Given the description of an element on the screen output the (x, y) to click on. 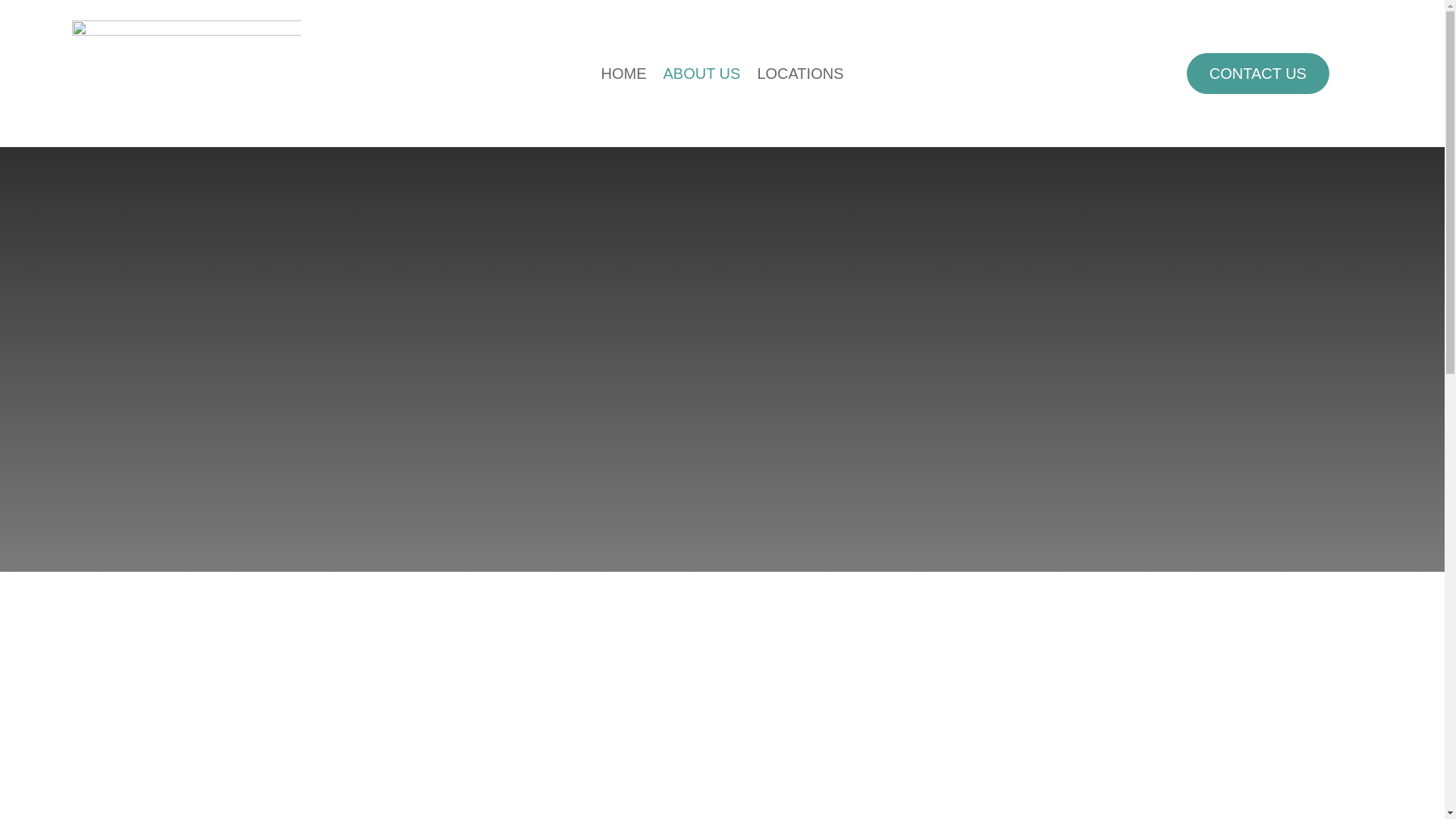
HOME (622, 76)
landmark-title (186, 73)
LOCATIONS (800, 76)
CONTACT US (1257, 73)
ABOUT US (700, 76)
